Given the description of an element on the screen output the (x, y) to click on. 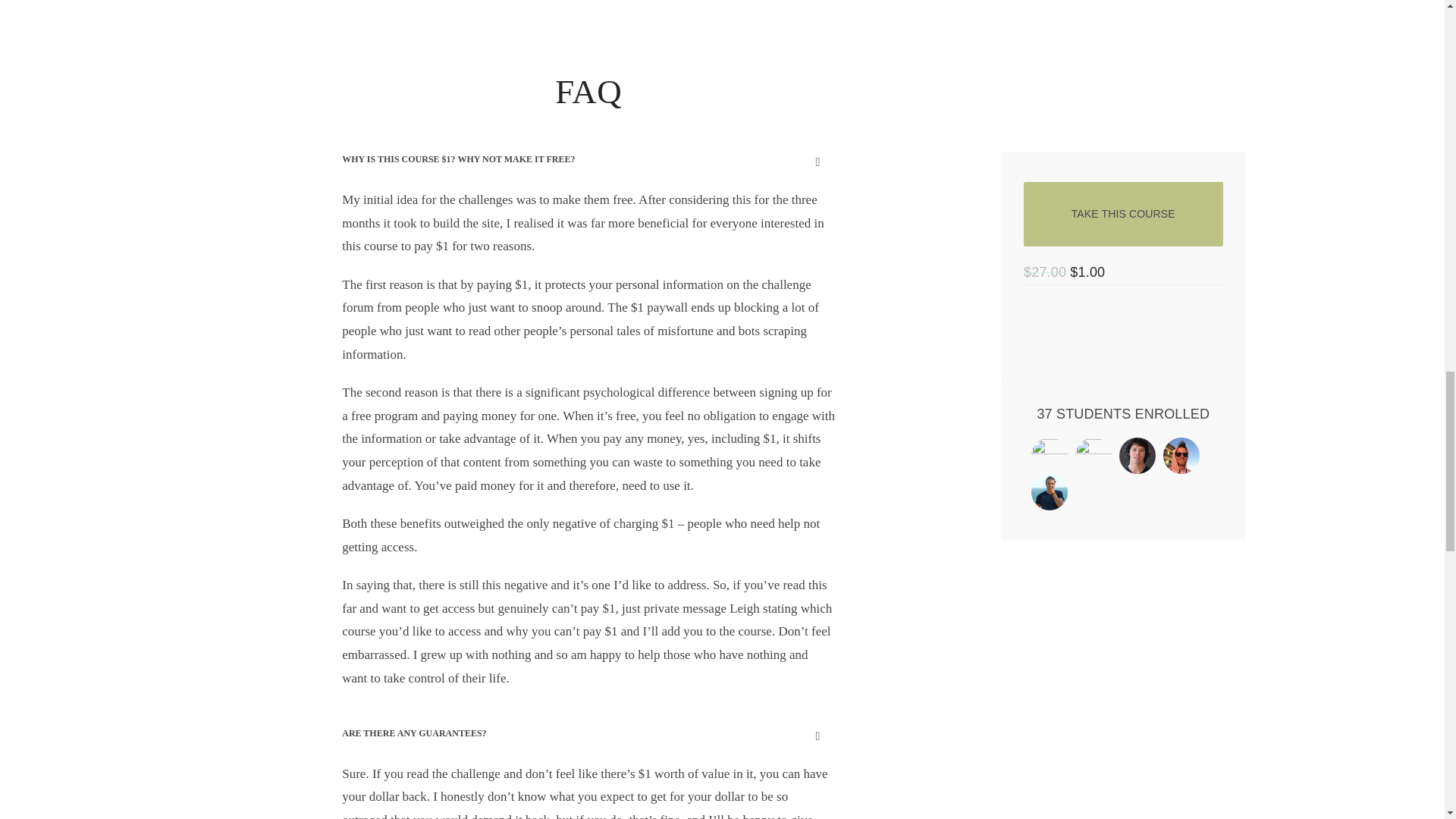
ARE THERE ANY GUARANTEES? (588, 733)
